Given the description of an element on the screen output the (x, y) to click on. 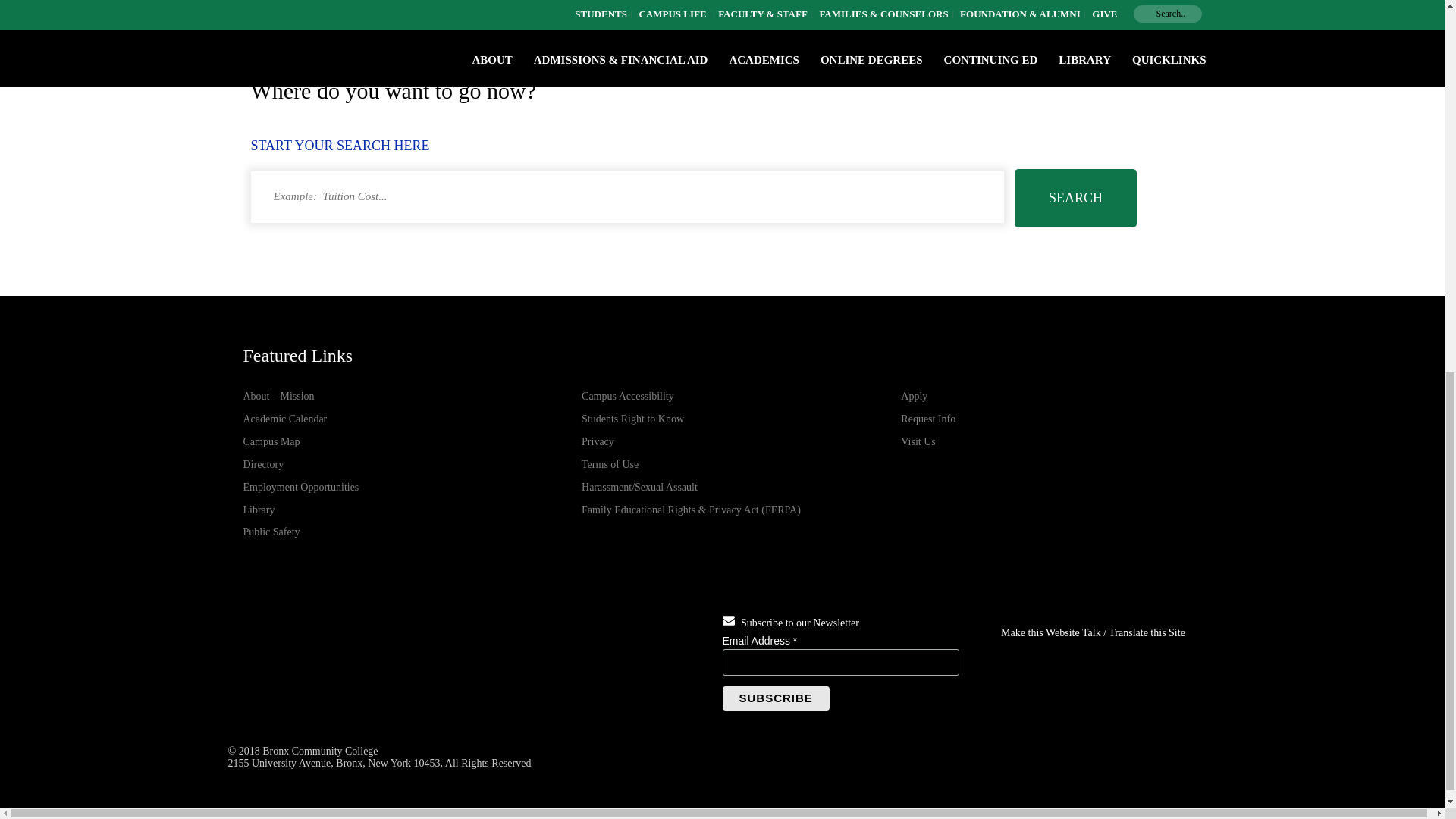
Employment Opportunities (300, 487)
Search (1075, 197)
Directory (263, 464)
Students Right to Know (632, 419)
BCC Community Logo (321, 663)
Campus Map (271, 441)
Search for: (626, 196)
Academic Calendar (284, 419)
Public Safety (271, 531)
Privacy (597, 441)
